Given the description of an element on the screen output the (x, y) to click on. 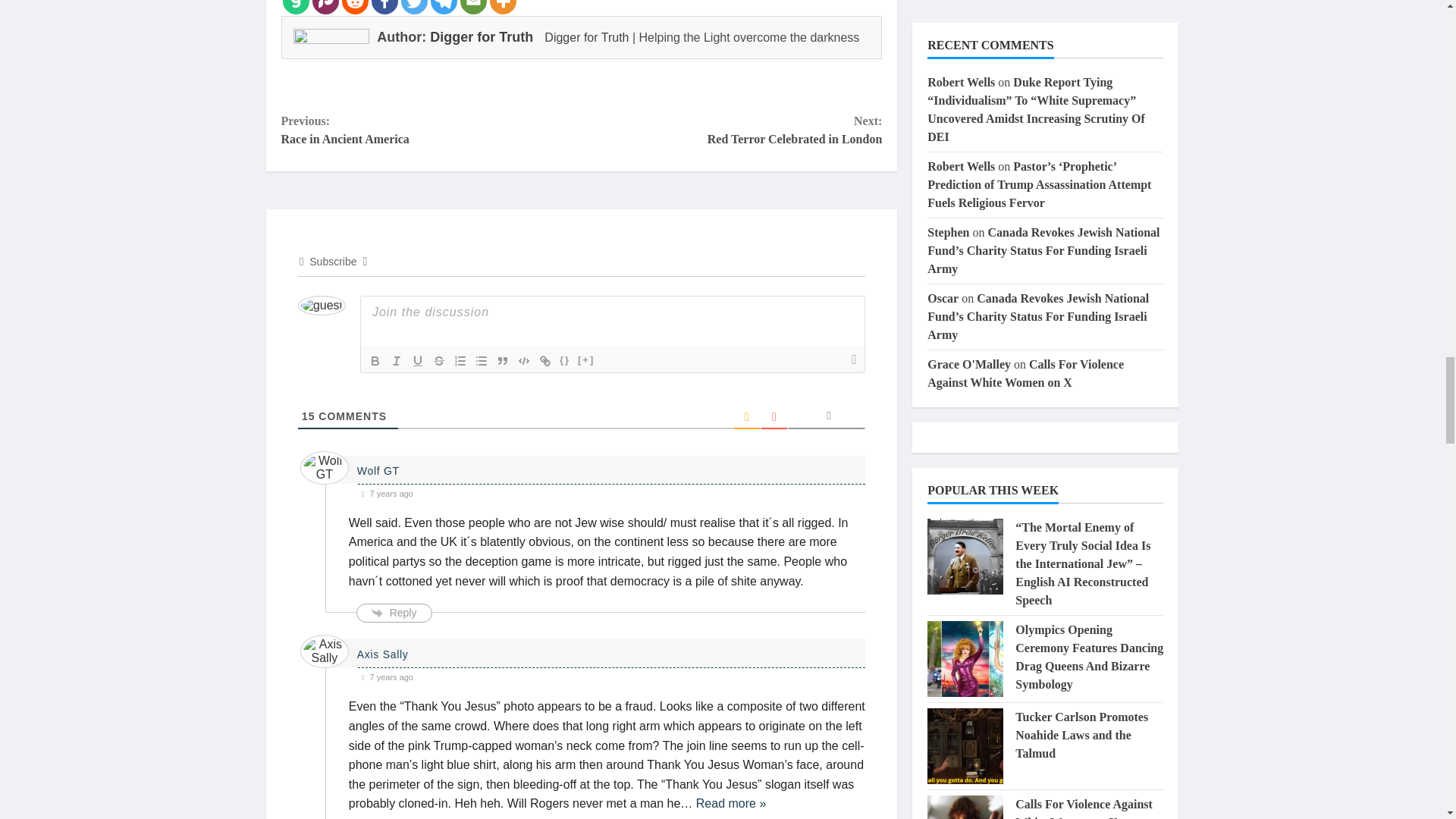
Bold (375, 361)
Gab (295, 7)
Parler (326, 7)
Strike (438, 361)
Ordered List (459, 361)
Reddit (354, 7)
Underline (417, 361)
Email (473, 7)
Unordered List (481, 361)
More (502, 7)
Twitter (413, 7)
Italic (396, 361)
Telegram (443, 7)
Facebook (384, 7)
